Given the description of an element on the screen output the (x, y) to click on. 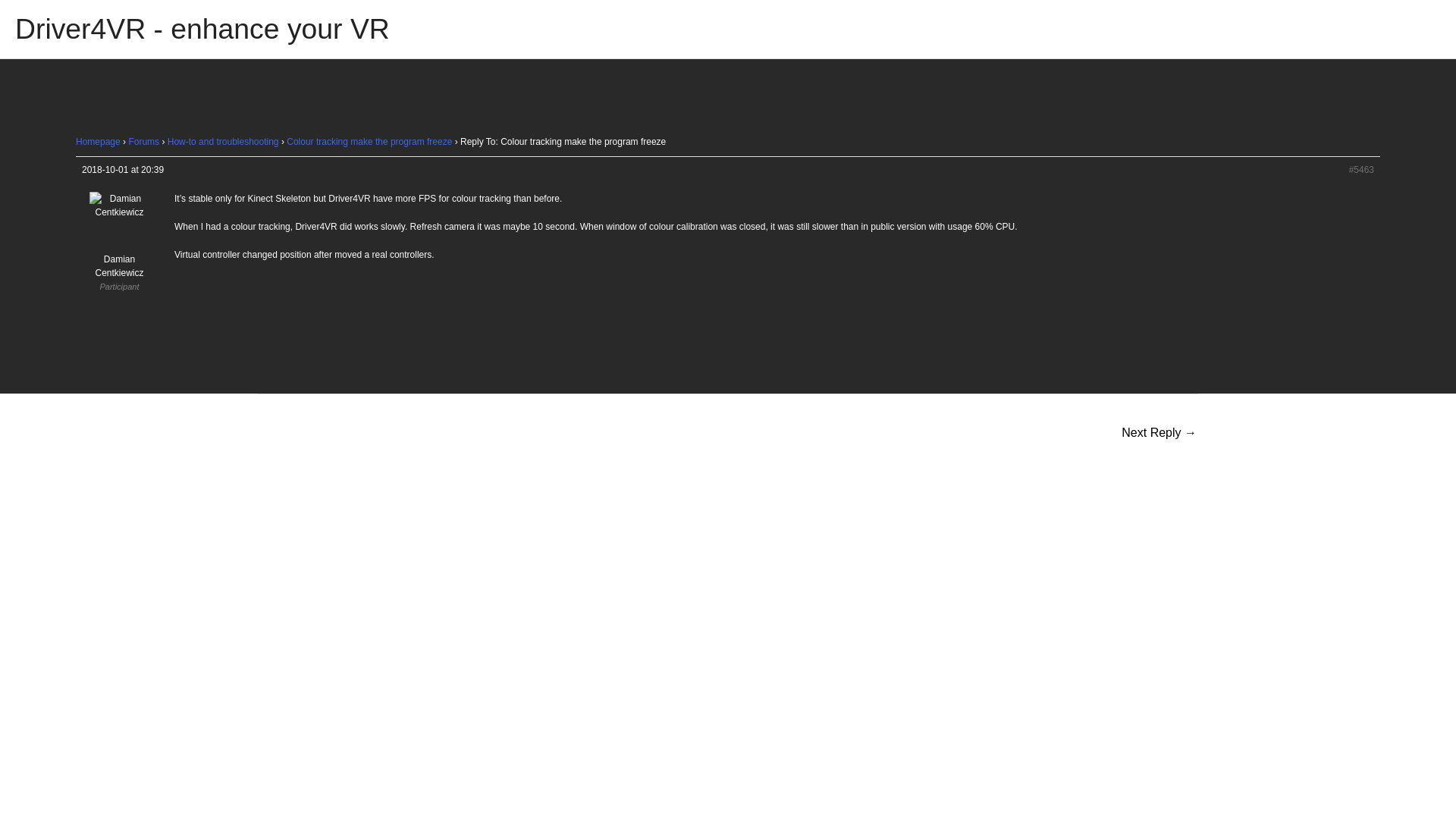
Driver4VR - enhance your VR (202, 29)
Homepage (97, 141)
Damian Centkiewicz (119, 245)
Forums (143, 141)
View Damian Centkiewicz's profile (119, 245)
How-to and troubleshooting (223, 141)
Colour tracking make the program freeze (368, 141)
